Given the description of an element on the screen output the (x, y) to click on. 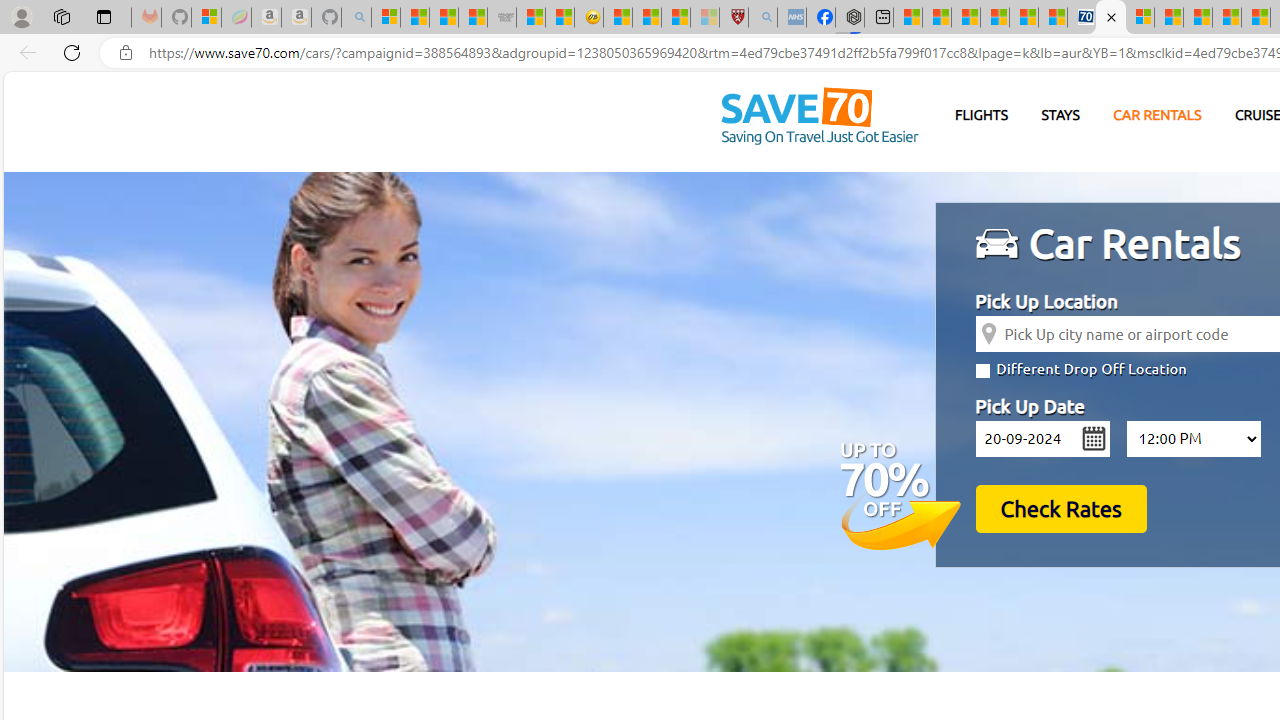
Class: select-pickup-time select_box (1193, 438)
STAYS (1060, 115)
